Given the description of an element on the screen output the (x, y) to click on. 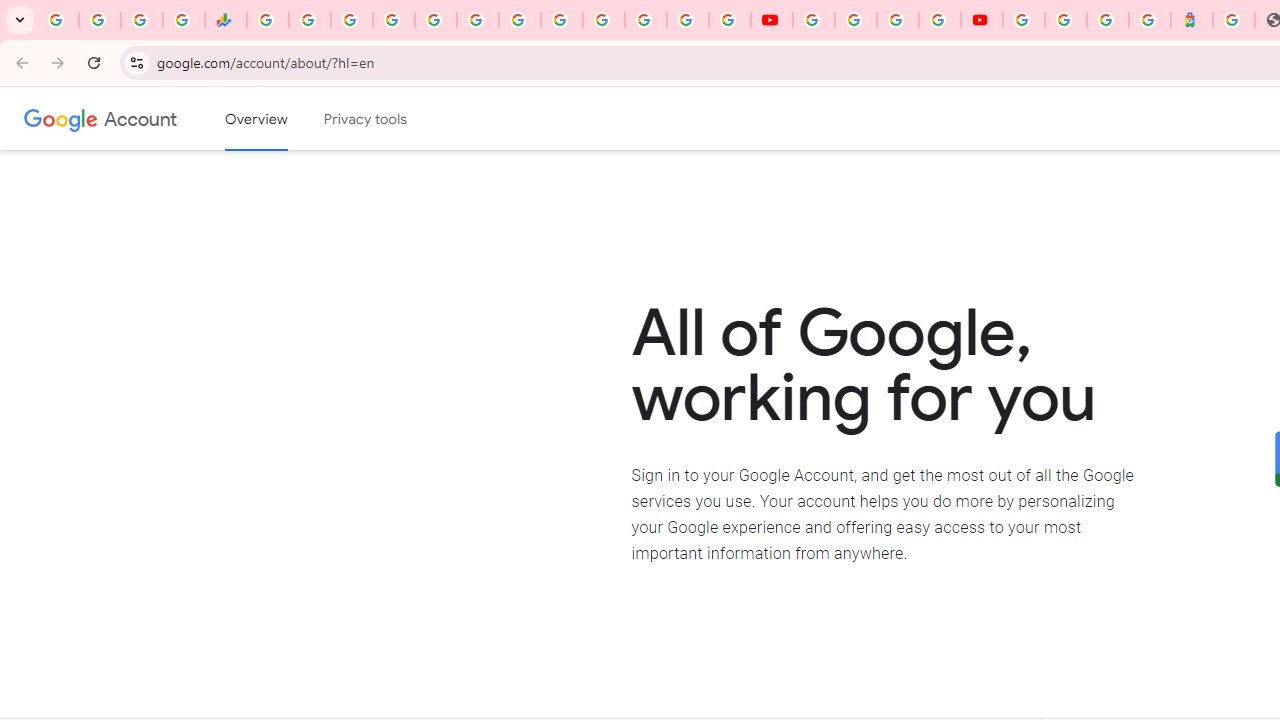
Google Account (140, 118)
Sign in - Google Accounts (1065, 20)
Create your Google Account (897, 20)
Skip to Content (285, 115)
Android TV Policies and Guidelines - Transparency Center (520, 20)
YouTube (561, 20)
Google Workspace Admin Community (58, 20)
